Given the description of an element on the screen output the (x, y) to click on. 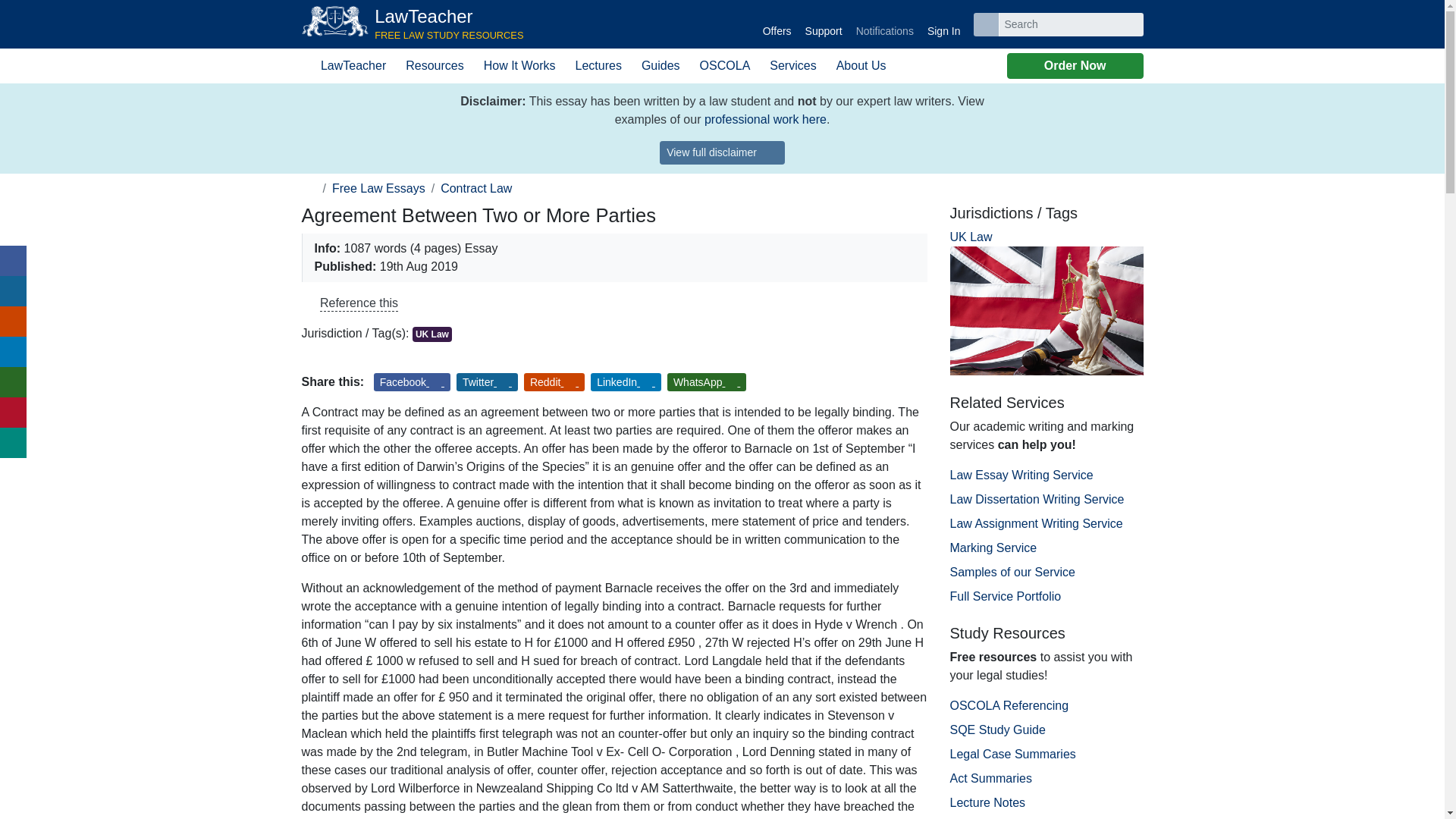
Sign In (412, 23)
Offers (944, 23)
Support (776, 23)
View full disclaimer (822, 23)
Notifications (721, 152)
samples of our writing service (884, 23)
Go to the LawTeacher homepage (765, 119)
homepage link (412, 23)
